Given the description of an element on the screen output the (x, y) to click on. 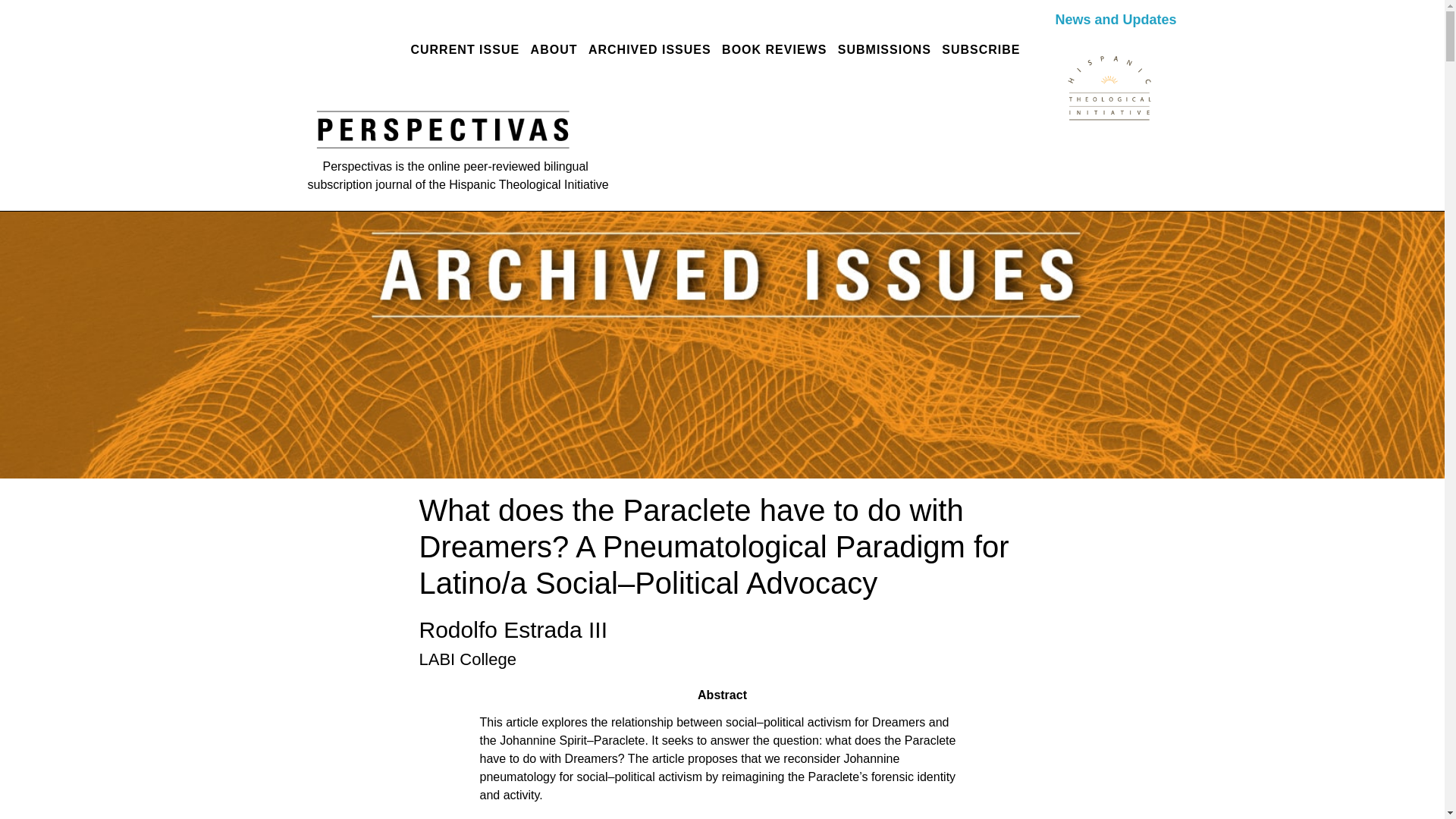
SUBSCRIBE (980, 50)
SUBMISSIONS (884, 50)
News and Updates (1115, 19)
ARCHIVED ISSUES (649, 50)
BOOK REVIEWS (773, 50)
CURRENT ISSUE (464, 50)
ABOUT (553, 50)
